Given the description of an element on the screen output the (x, y) to click on. 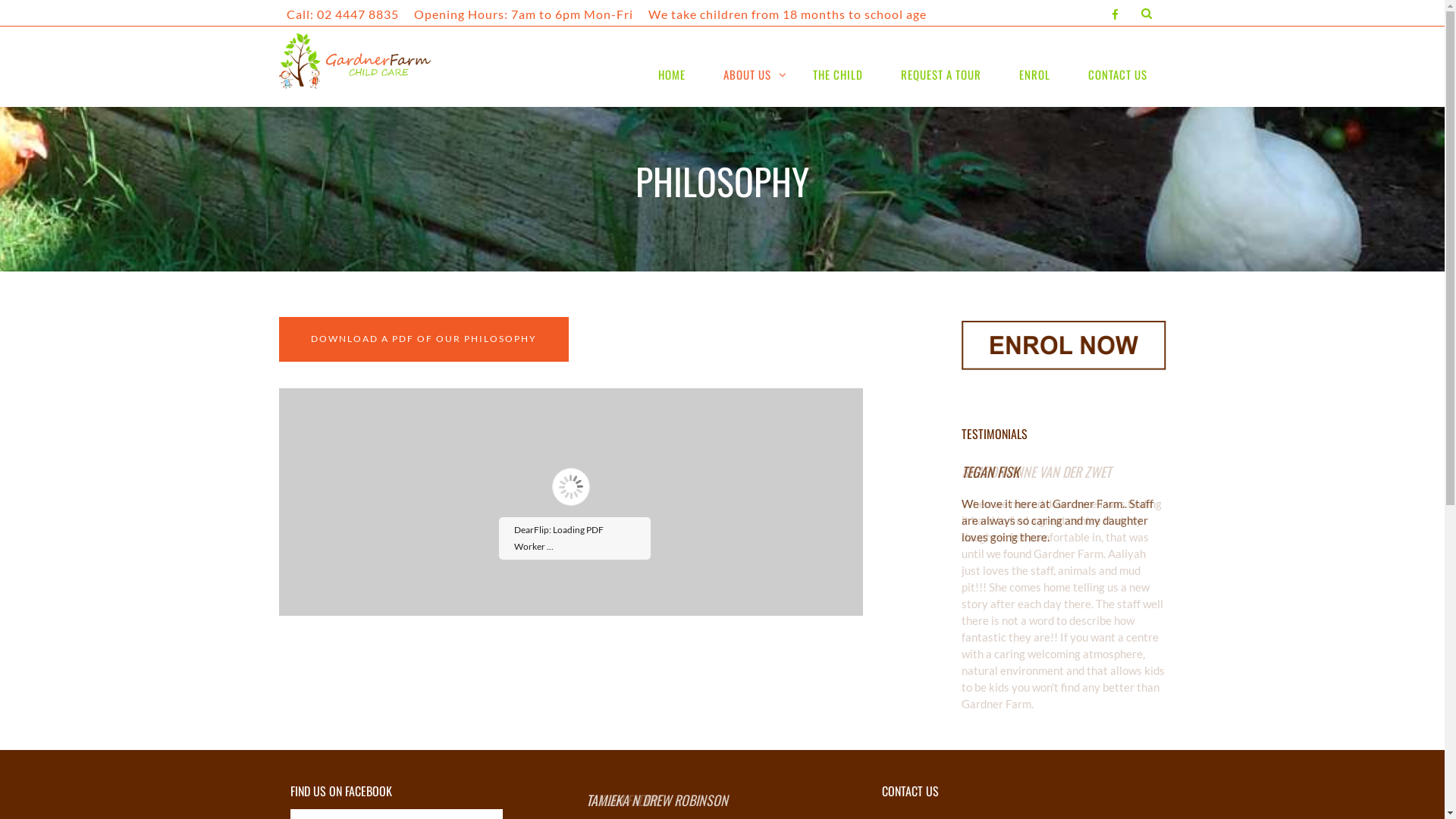
ENROL Element type: text (1033, 74)
We take children from 18 months to school age Element type: text (786, 14)
HOME Element type: text (670, 74)
Call: 02 4447 8835 Element type: text (342, 14)
Facebook Element type: hover (1114, 14)
CONTACT US Element type: text (1117, 74)
ABOUT US Element type: text (748, 74)
Opening Hours: 7am to 6pm Mon-Fri Element type: text (523, 14)
THE CHILD Element type: text (837, 74)
DOWNLOAD A PDF OF OUR PHILOSOPHY Element type: text (423, 338)
REQUEST A TOUR Element type: text (940, 74)
